Given the description of an element on the screen output the (x, y) to click on. 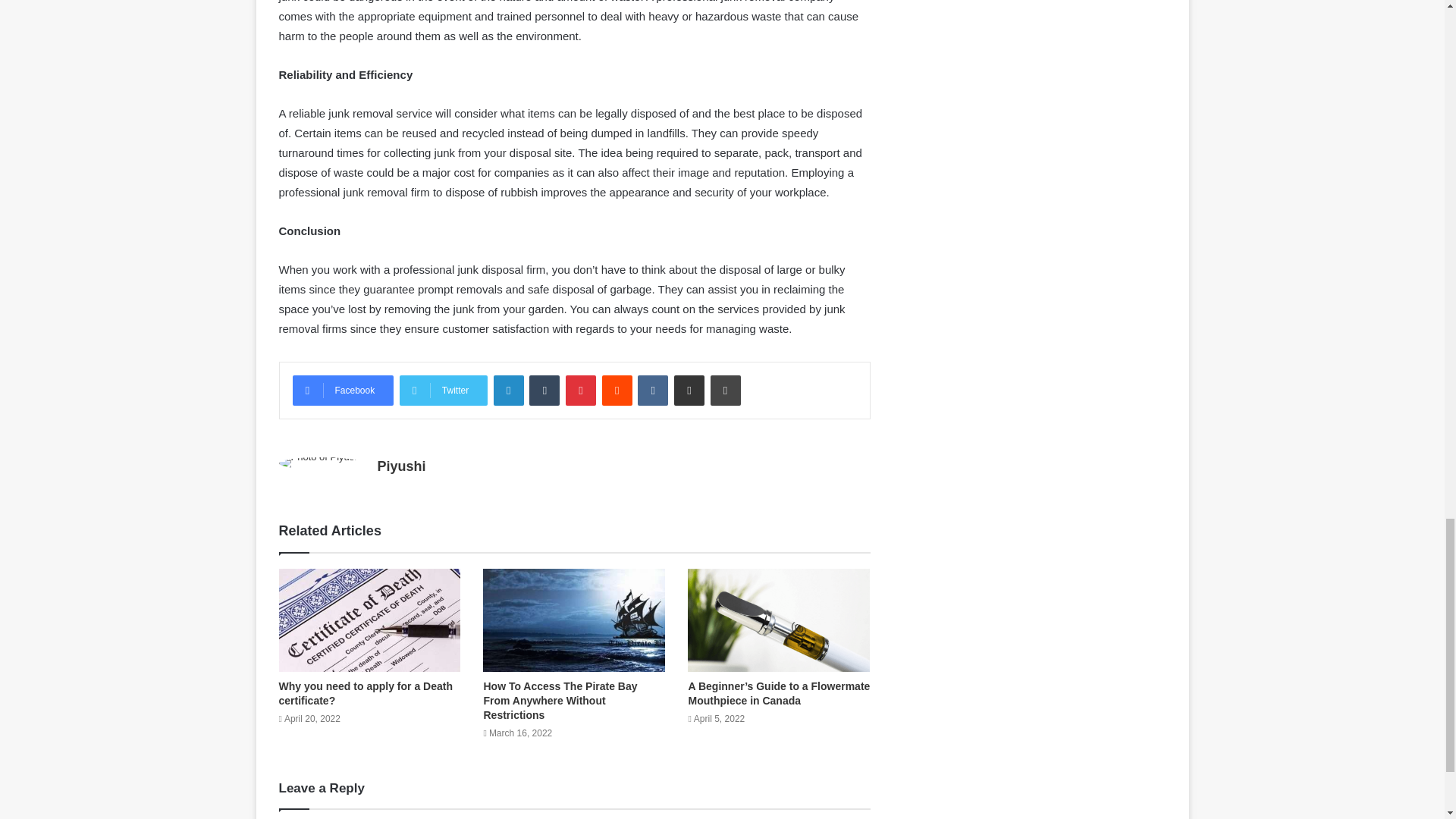
Share via Email (689, 390)
Print (725, 390)
Tumblr (544, 390)
Reddit (616, 390)
Facebook (343, 390)
Reddit (616, 390)
VKontakte (652, 390)
Why you need to apply for a Death certificate? (365, 693)
VKontakte (652, 390)
